Given the description of an element on the screen output the (x, y) to click on. 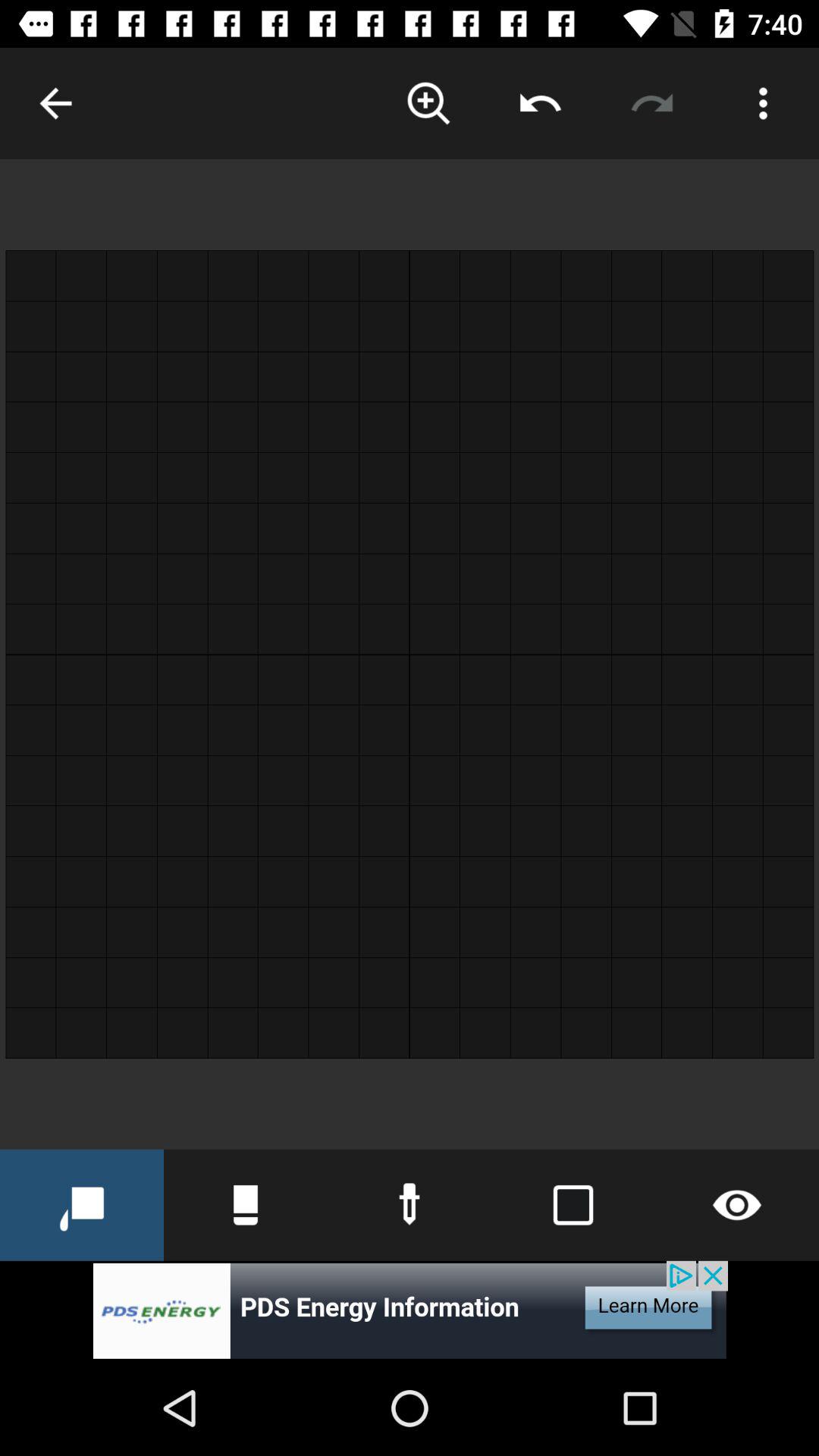
opposite of undo action (651, 103)
